Given the description of an element on the screen output the (x, y) to click on. 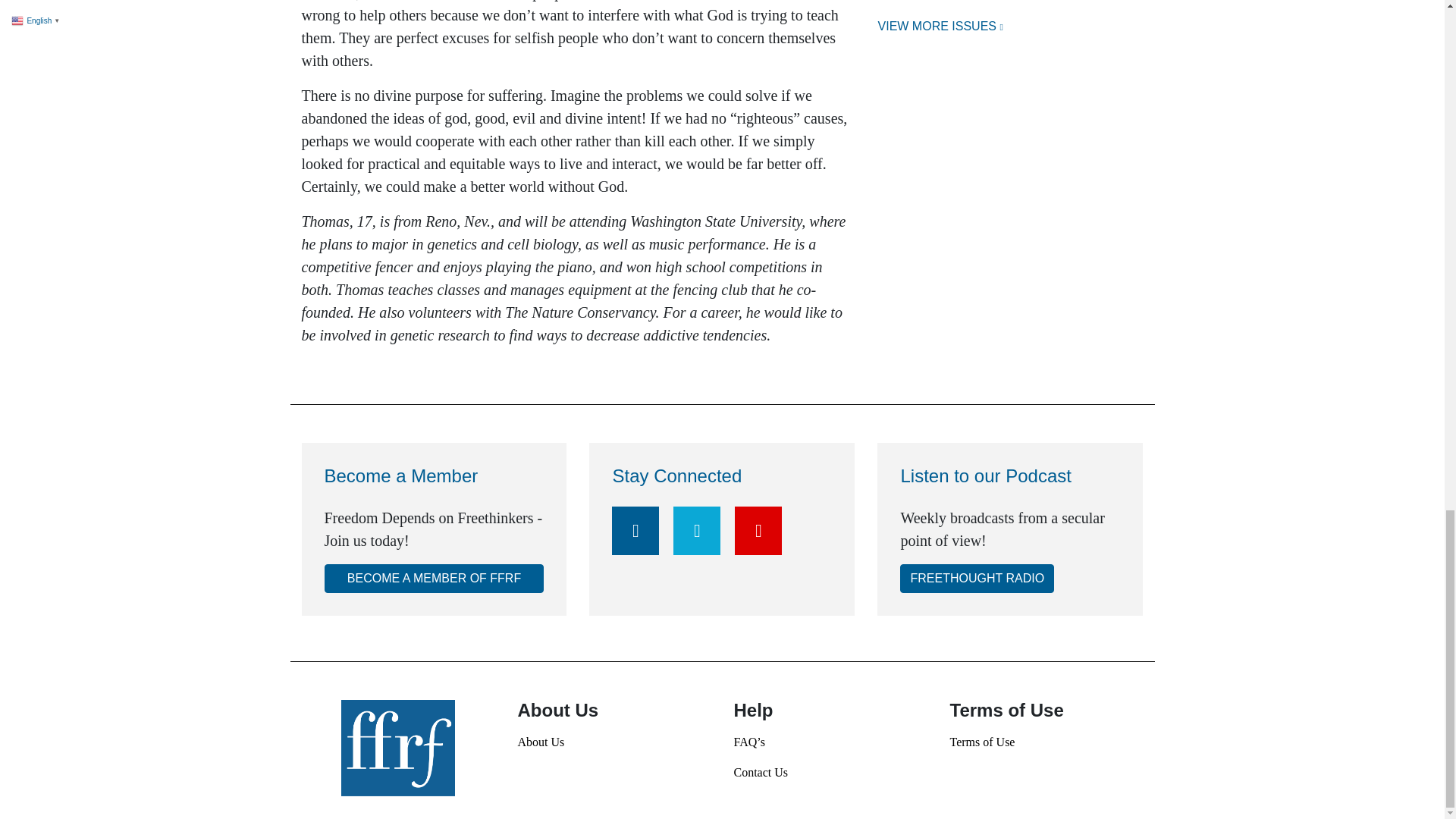
FAQ's (830, 742)
About Us (613, 742)
Contact Us (830, 772)
Terms of Use (1045, 742)
